Given the description of an element on the screen output the (x, y) to click on. 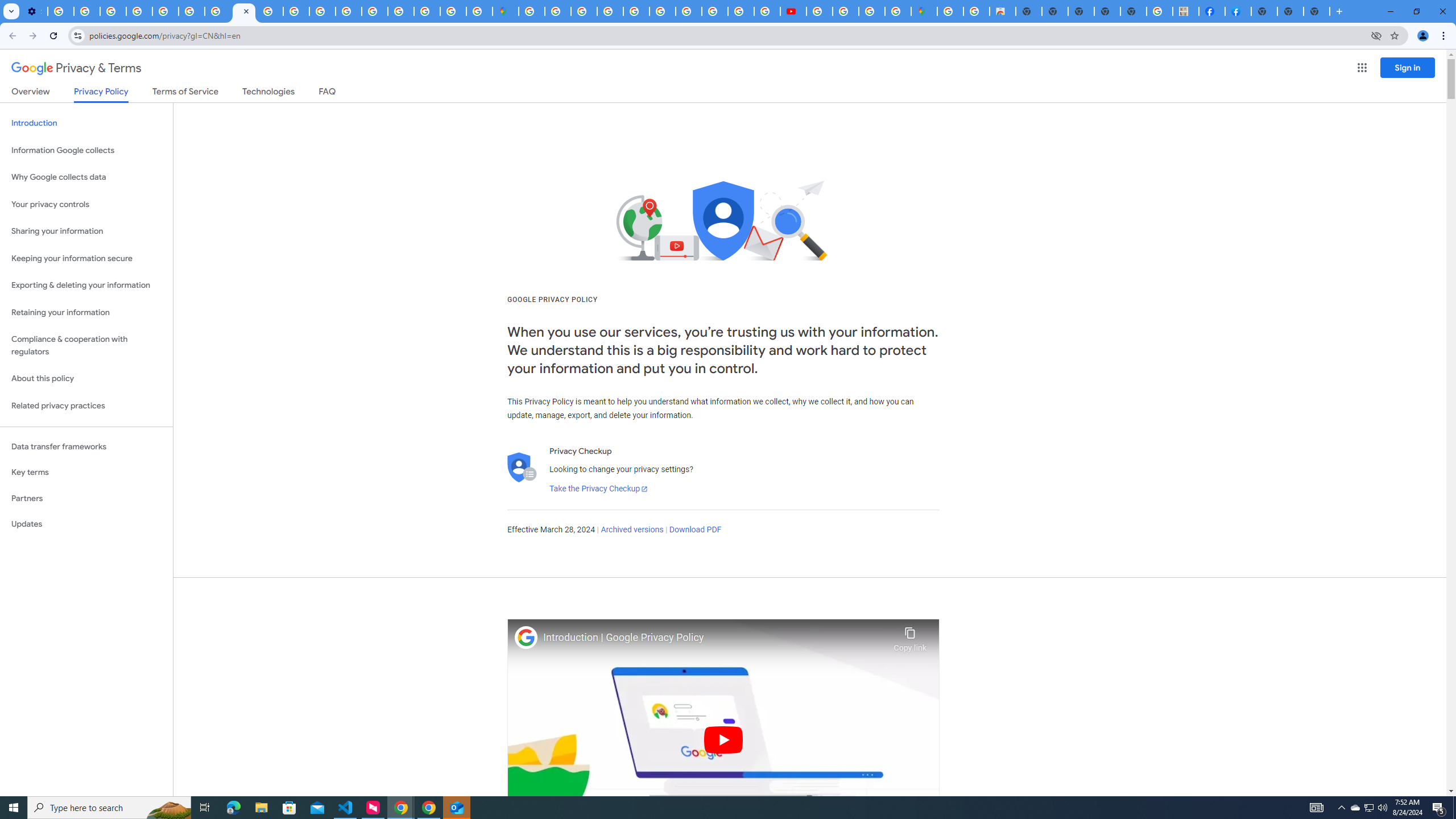
Google Maps (505, 11)
Google Maps (923, 11)
Privacy Help Center - Policies Help (296, 11)
Privacy Help Center - Policies Help (165, 11)
Delete photos & videos - Computer - Google Photos Help (60, 11)
Terms and Conditions (636, 11)
Sign Up for Facebook (1238, 11)
